Given the description of an element on the screen output the (x, y) to click on. 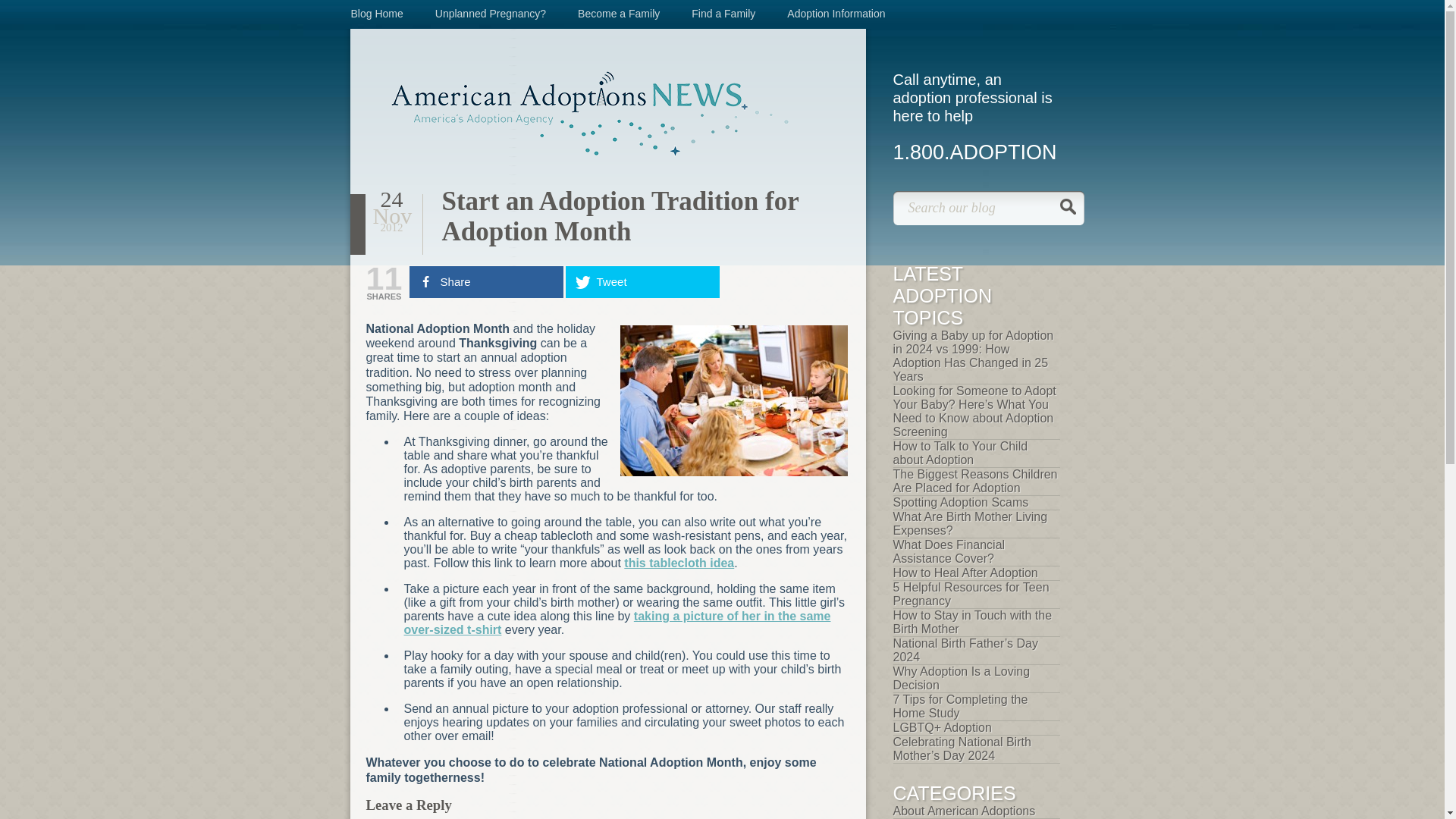
Search our blog (988, 207)
Blog Home (376, 13)
this tablecloth idea (678, 562)
Become a Family (618, 13)
Tweet (642, 282)
Thanksgiving Adoption Traditions (733, 400)
Find a Family (723, 13)
Share (486, 282)
Adoption Information (836, 13)
Unplanned Pregnancy? (490, 13)
taking a picture of her in the same over-sized t-shirt (616, 622)
